Given the description of an element on the screen output the (x, y) to click on. 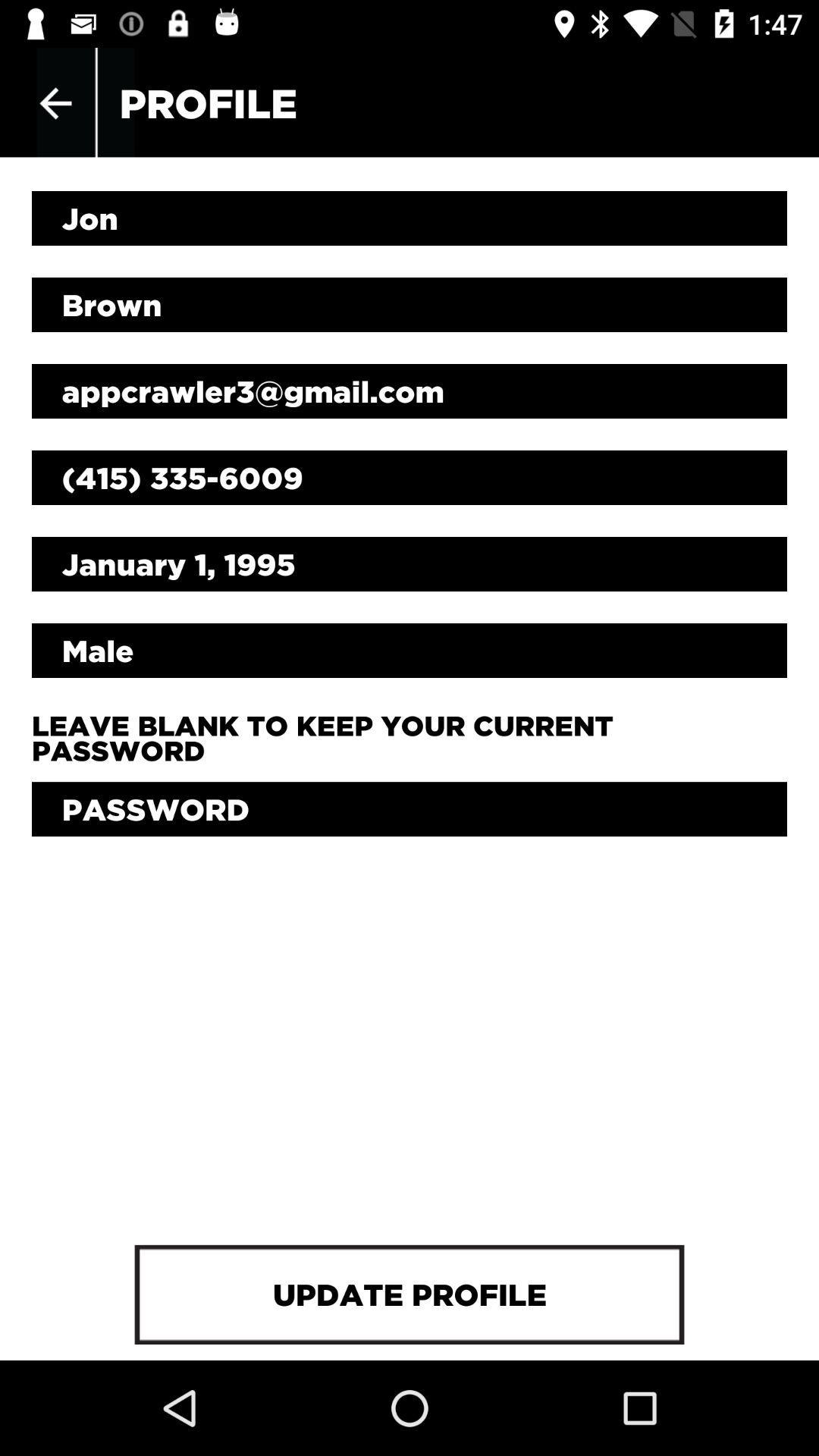
select update profile item (409, 1294)
